Given the description of an element on the screen output the (x, y) to click on. 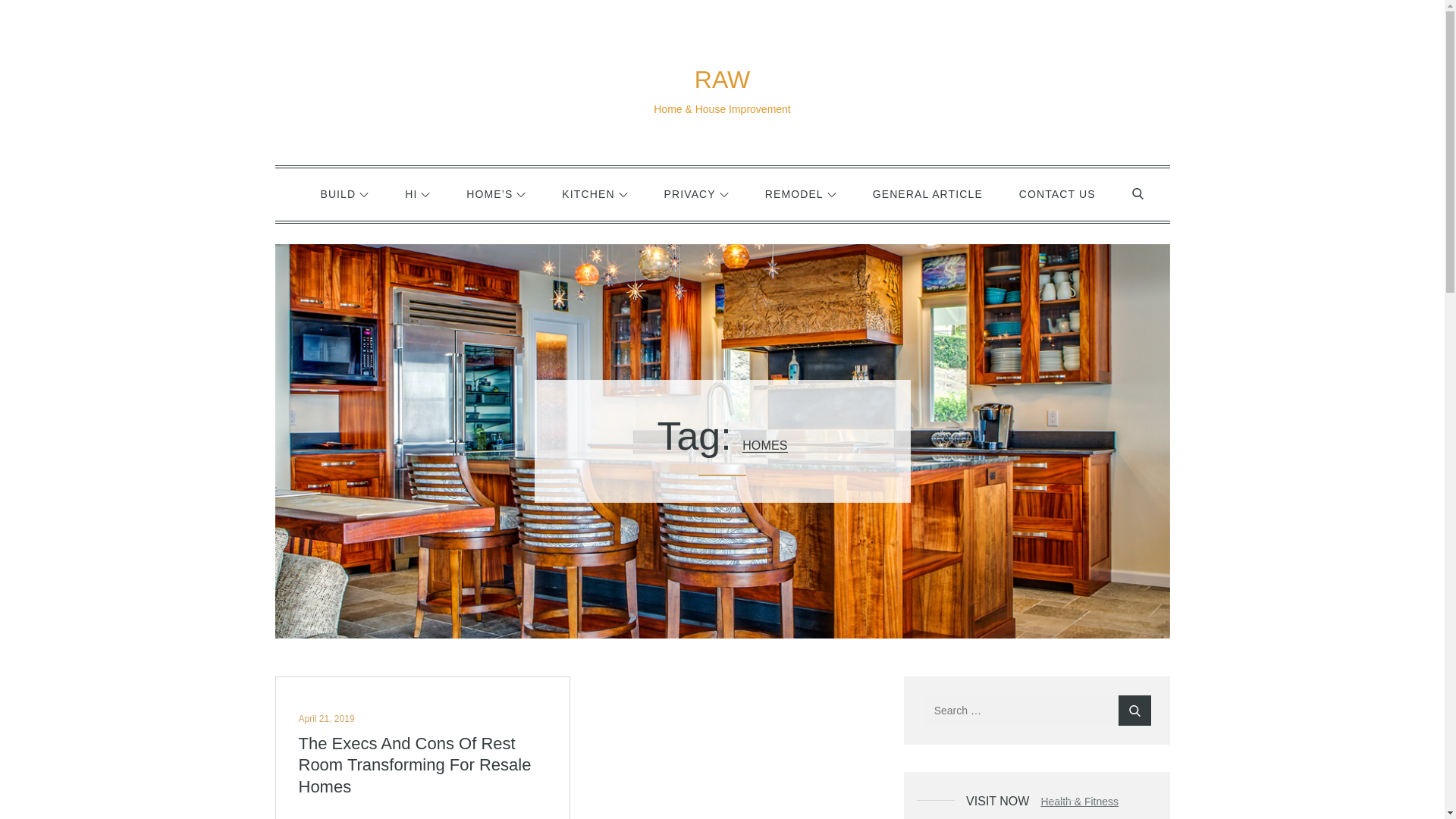
REMODEL (800, 194)
April 21, 2019 (326, 718)
KITCHEN (593, 194)
HI (417, 194)
GENERAL ARTICLE (927, 194)
CONTACT US (1057, 194)
RAW (721, 79)
PRIVACY (696, 194)
BUILD (343, 194)
